Given the description of an element on the screen output the (x, y) to click on. 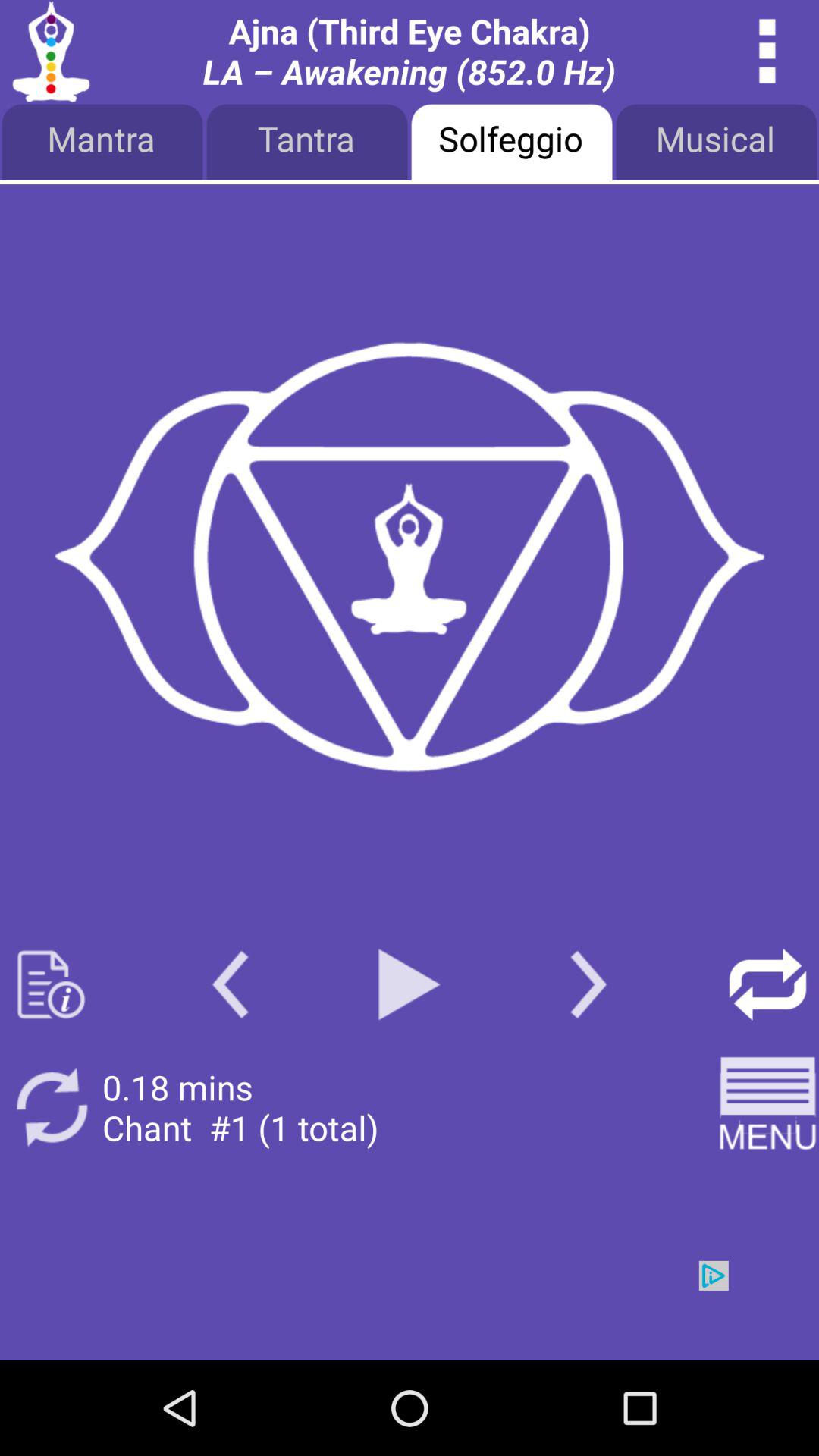
see details (767, 51)
